Given the description of an element on the screen output the (x, y) to click on. 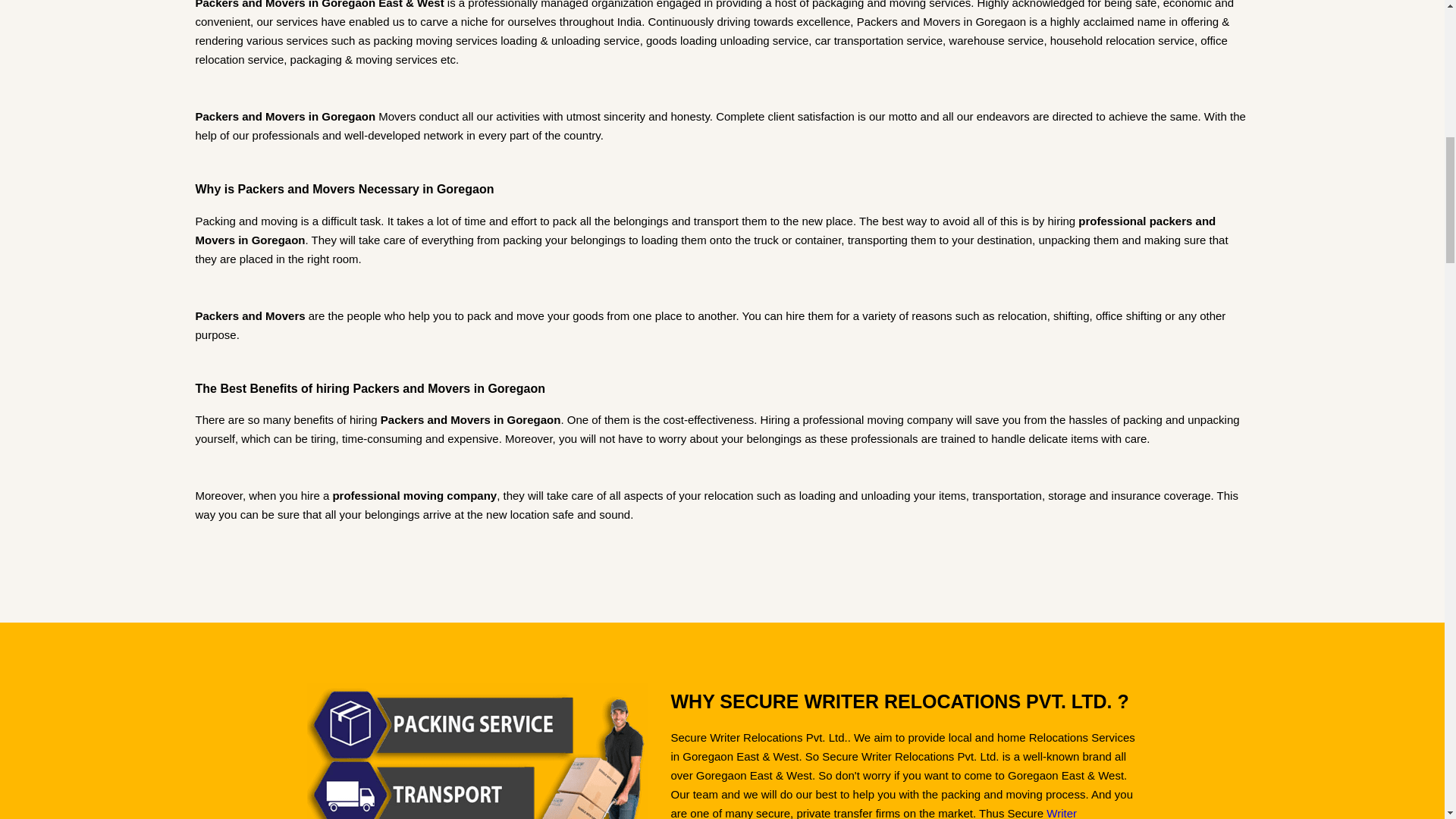
Writer Relocations Pvt. Ltd. (873, 812)
